Given the description of an element on the screen output the (x, y) to click on. 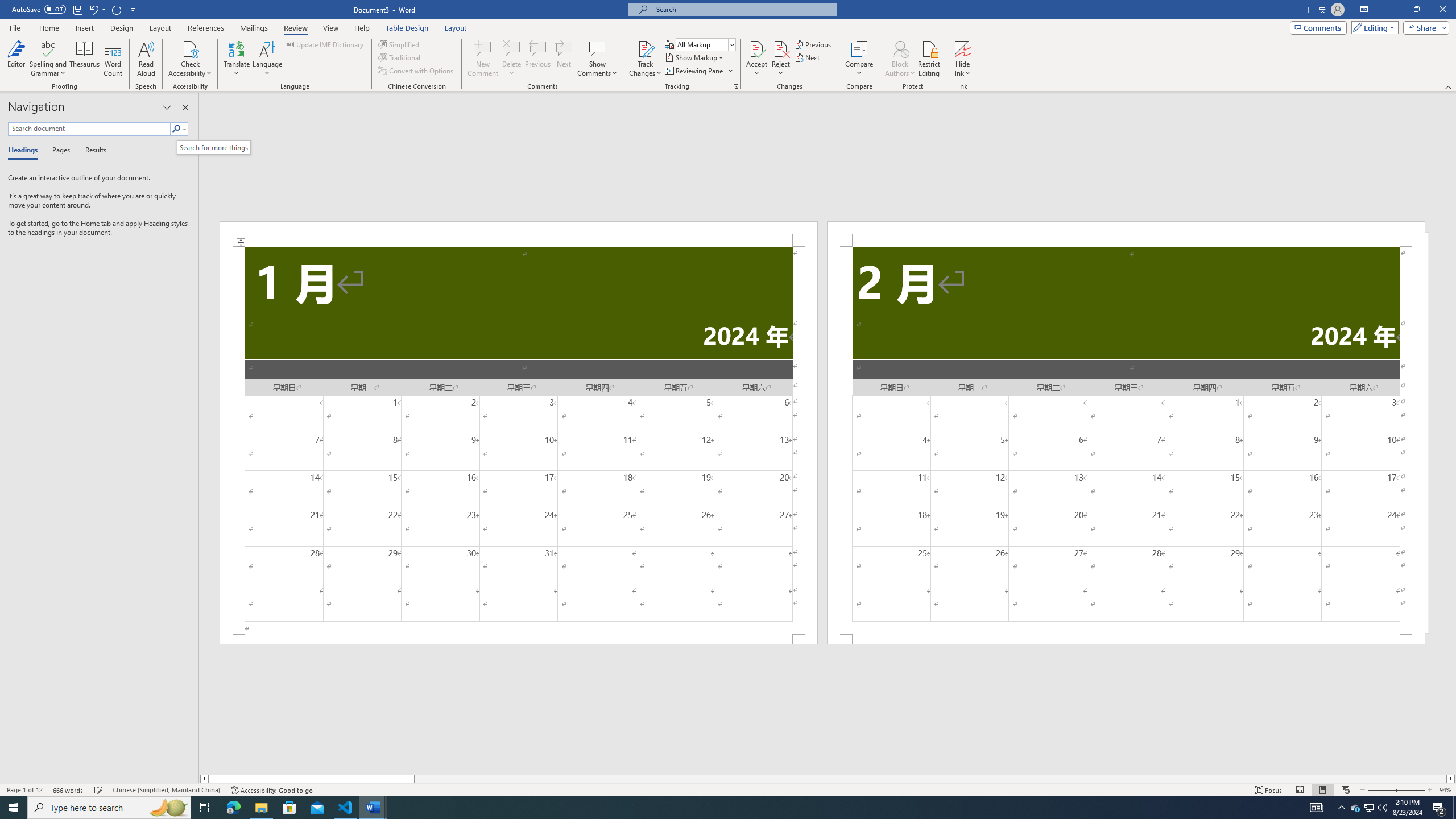
Check Accessibility (189, 48)
Read Aloud (145, 58)
Simplified (400, 44)
Page 2 content (1126, 439)
Spelling and Grammar (48, 58)
Check Accessibility (189, 58)
Block Authors (900, 48)
Page right (929, 778)
Convert with Options... (417, 69)
